Given the description of an element on the screen output the (x, y) to click on. 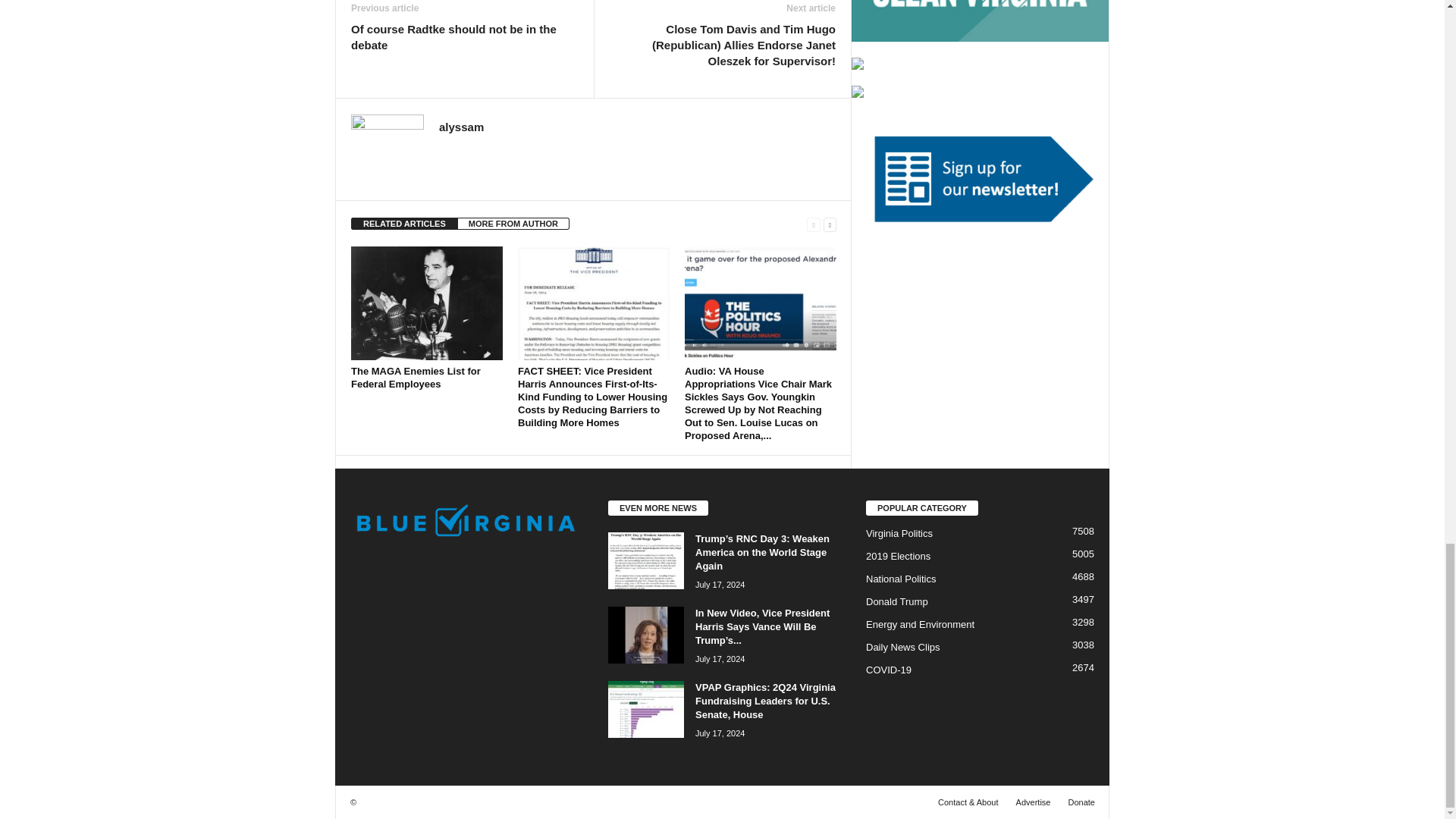
Of course Radtke should not be in the debate (464, 37)
The MAGA Enemies List for Federal Employees (426, 303)
MORE FROM AUTHOR (513, 223)
RELATED ARTICLES (404, 223)
alyssam (461, 126)
